Given the description of an element on the screen output the (x, y) to click on. 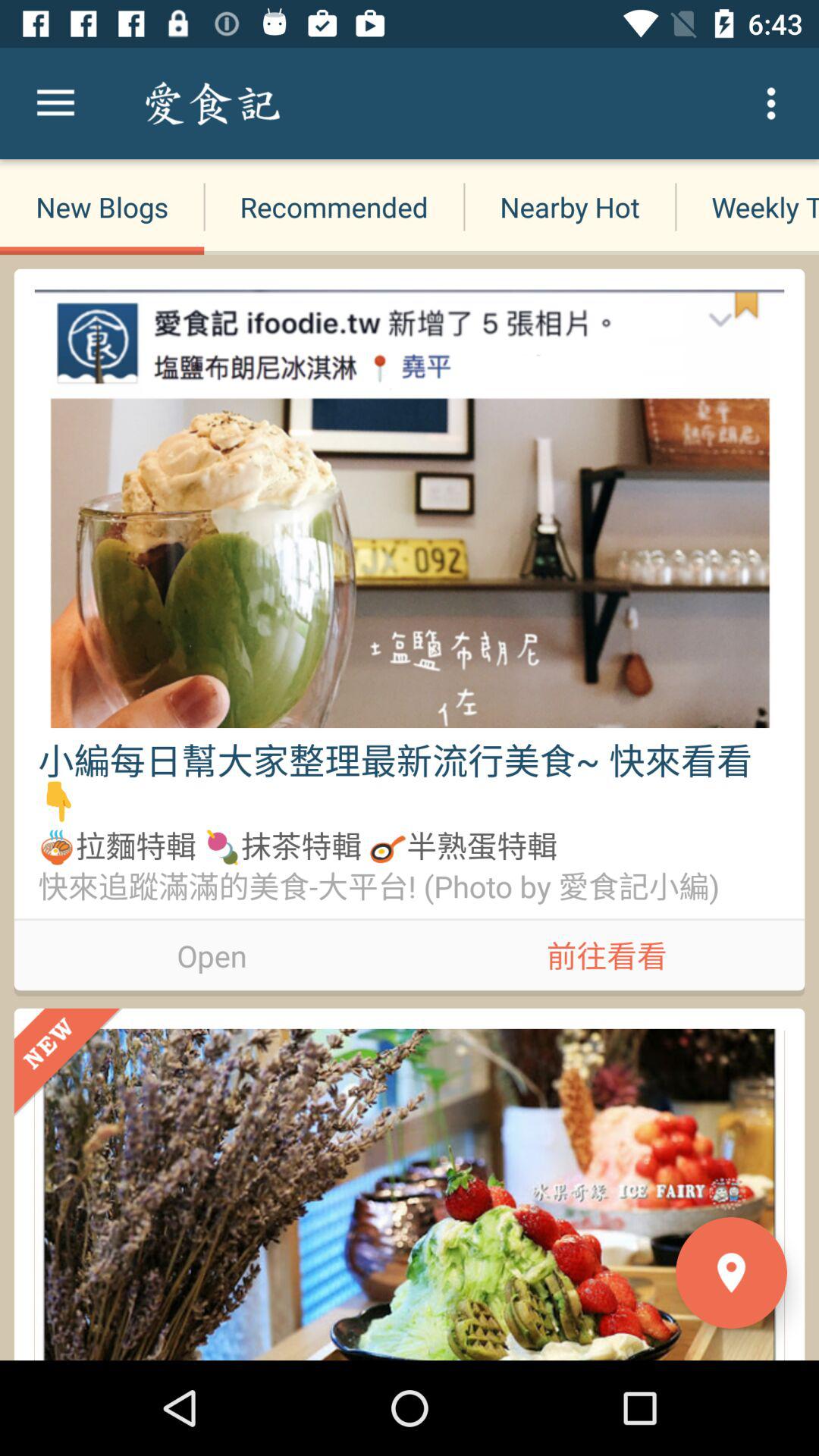
select search blogs icon (318, 103)
